Given the description of an element on the screen output the (x, y) to click on. 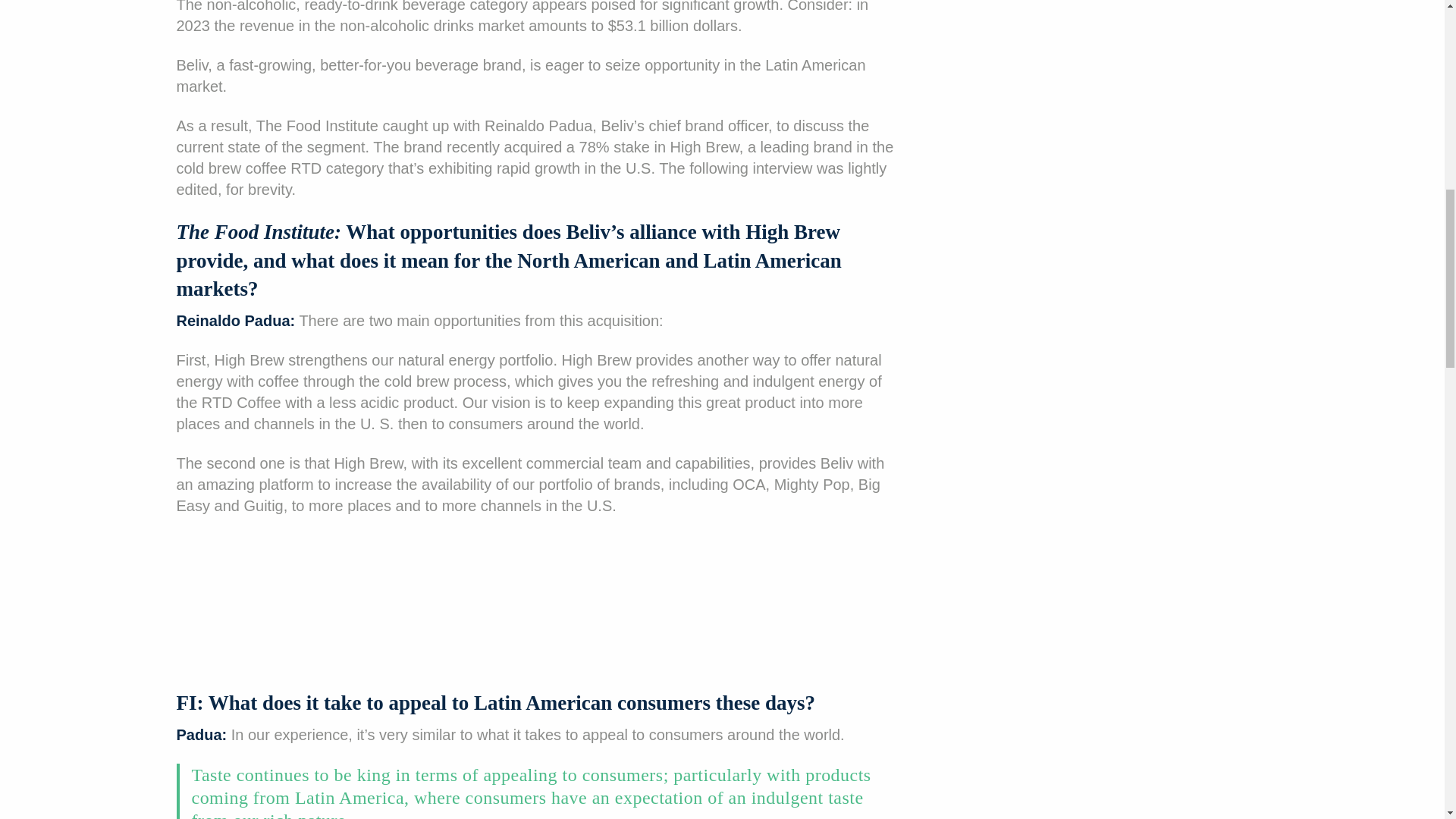
ADVISORY SERVICES (716, 341)
EARNINGS AND SALES (85, 37)
DATA INSIGHTS (61, 113)
TODAY IN FOOD (64, 9)
NEWSLETTER SIGN UP (716, 265)
ECONOMIC BENCHMARKING (106, 151)
MY ACCOUNT (57, 227)
WEBINAR (43, 189)
SHOP (716, 379)
MEMBER PROFILE (71, 75)
